Given the description of an element on the screen output the (x, y) to click on. 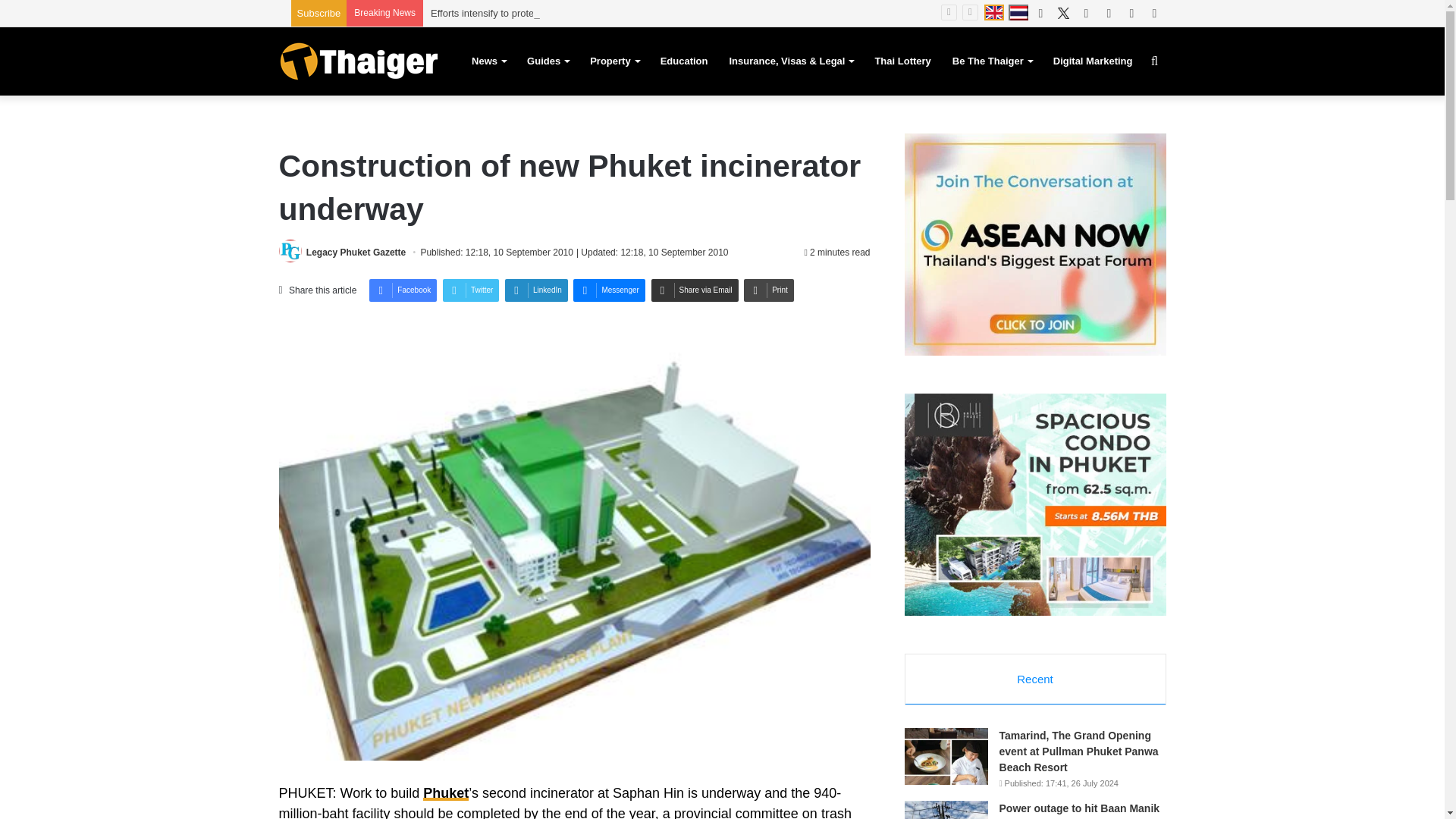
Facebook (402, 290)
Phuket (445, 792)
Share via Email (694, 290)
Twitter (470, 290)
Thaiger (358, 60)
Subscribe (318, 12)
Print (768, 290)
Legacy Phuket Gazette (355, 252)
LinkedIn (536, 290)
Messenger (609, 290)
